Given the description of an element on the screen output the (x, y) to click on. 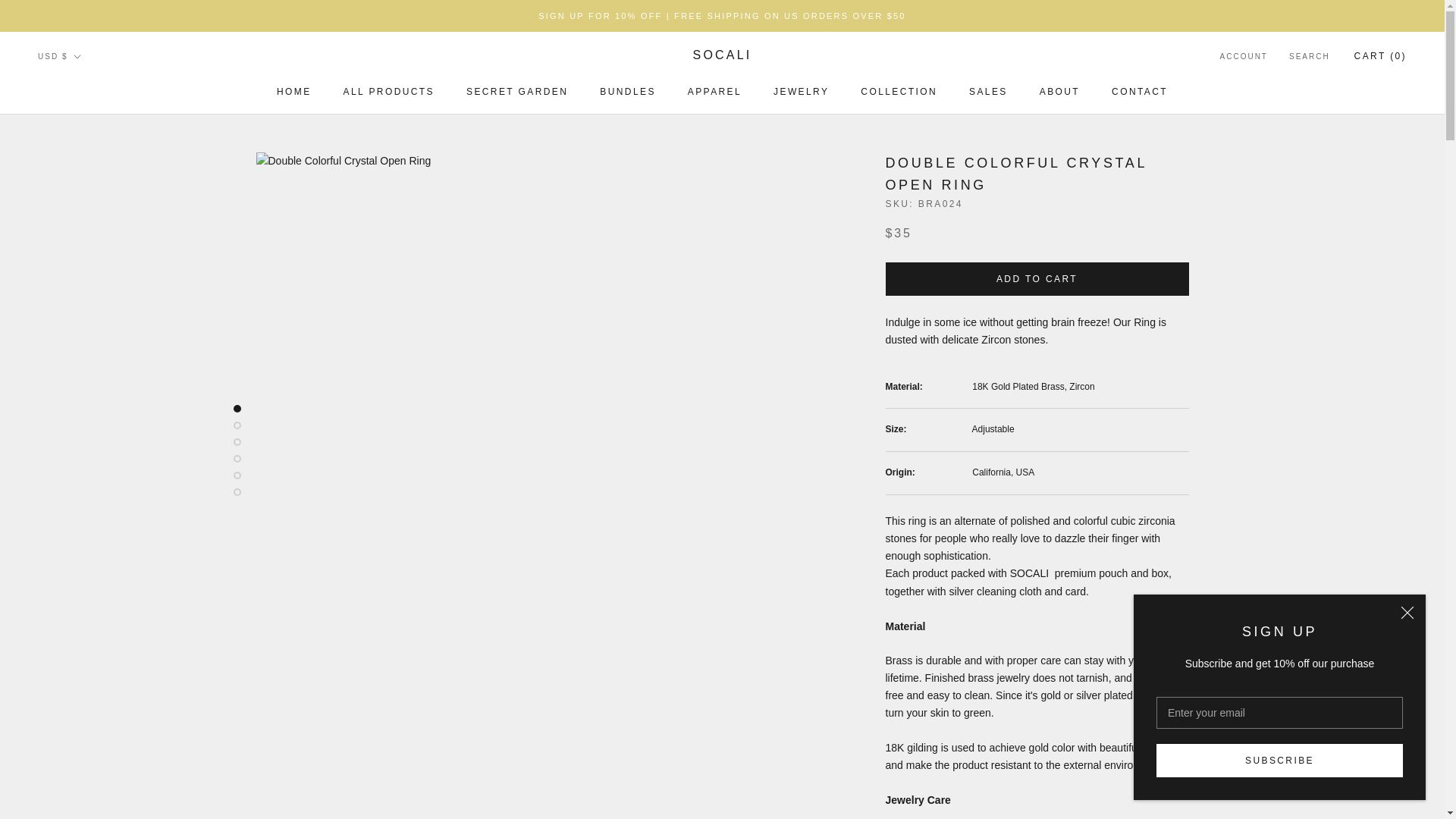
SUBSCRIBE (1279, 760)
